Given the description of an element on the screen output the (x, y) to click on. 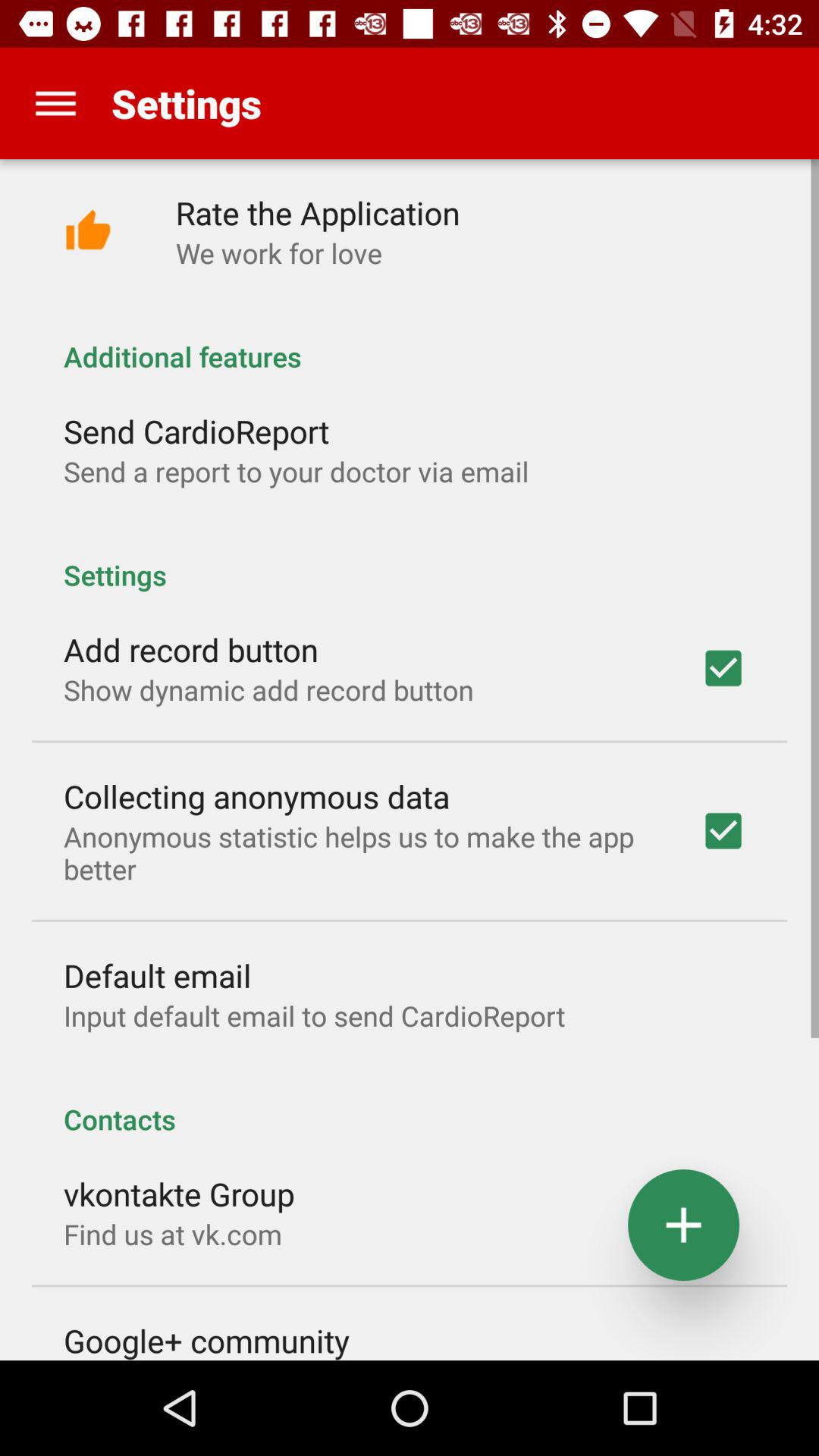
choose anonymous statistic helps item (361, 852)
